Given the description of an element on the screen output the (x, y) to click on. 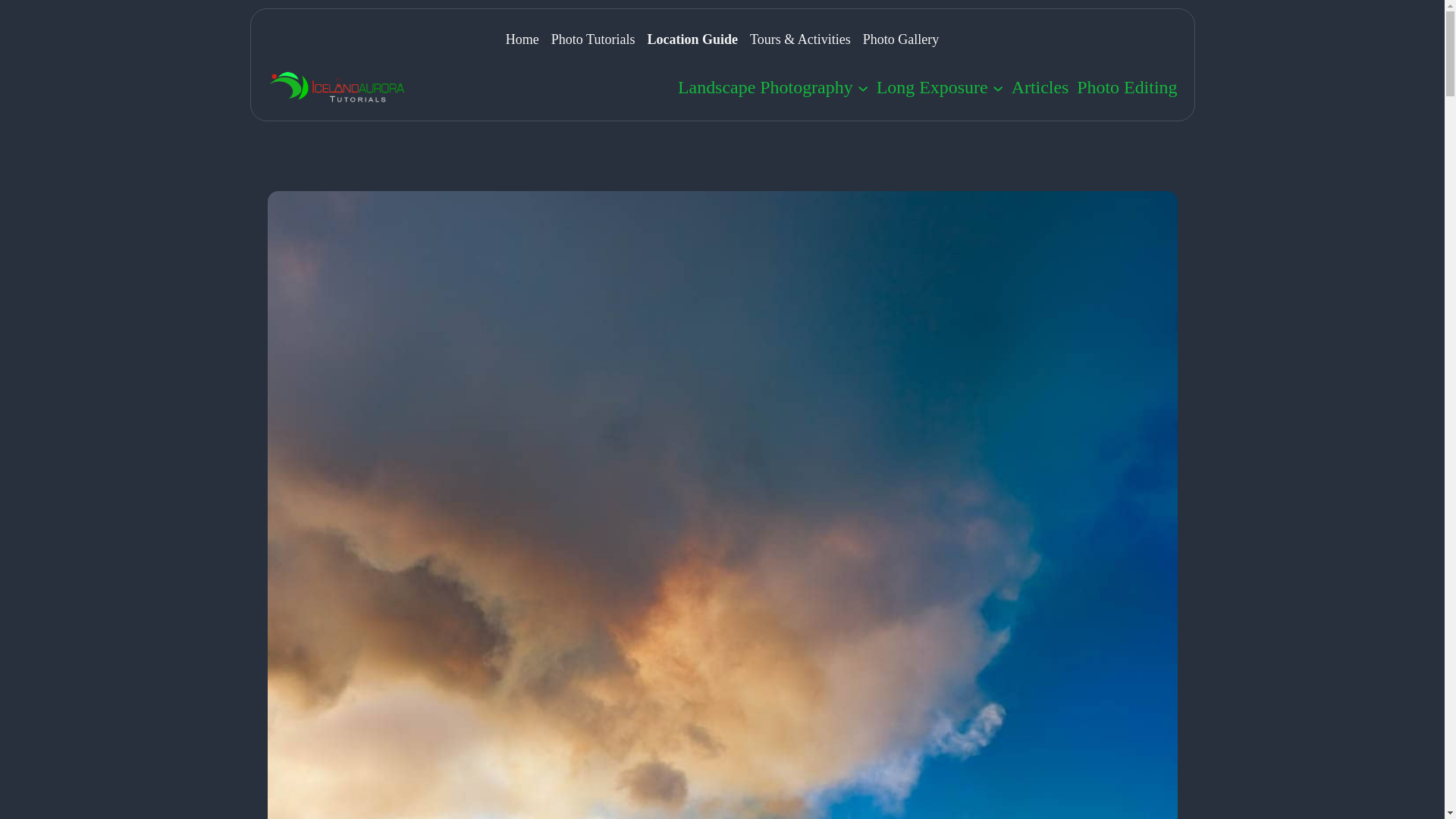
Articles (1039, 87)
Photo Editing (1126, 87)
Long Exposure (932, 87)
Location Guide (692, 39)
Photo Tutorials (592, 39)
Photo Gallery (901, 39)
Home (521, 39)
Landscape Photography (765, 87)
